Given the description of an element on the screen output the (x, y) to click on. 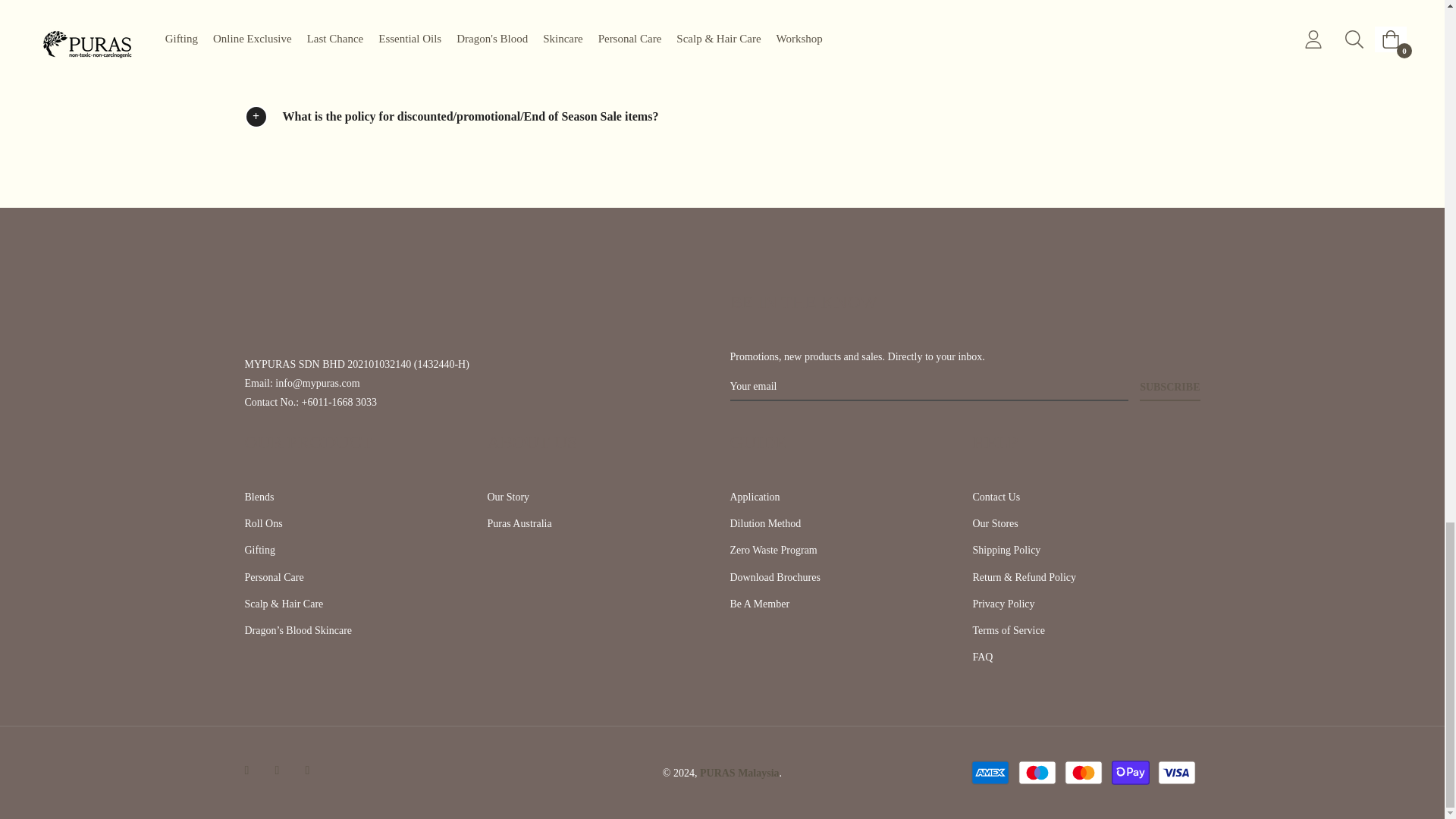
PURAS Malaysia on YouTube (310, 769)
PURAS Malaysia on Instagram (280, 769)
PURAS Malaysia on Facebook (250, 769)
